Given the description of an element on the screen output the (x, y) to click on. 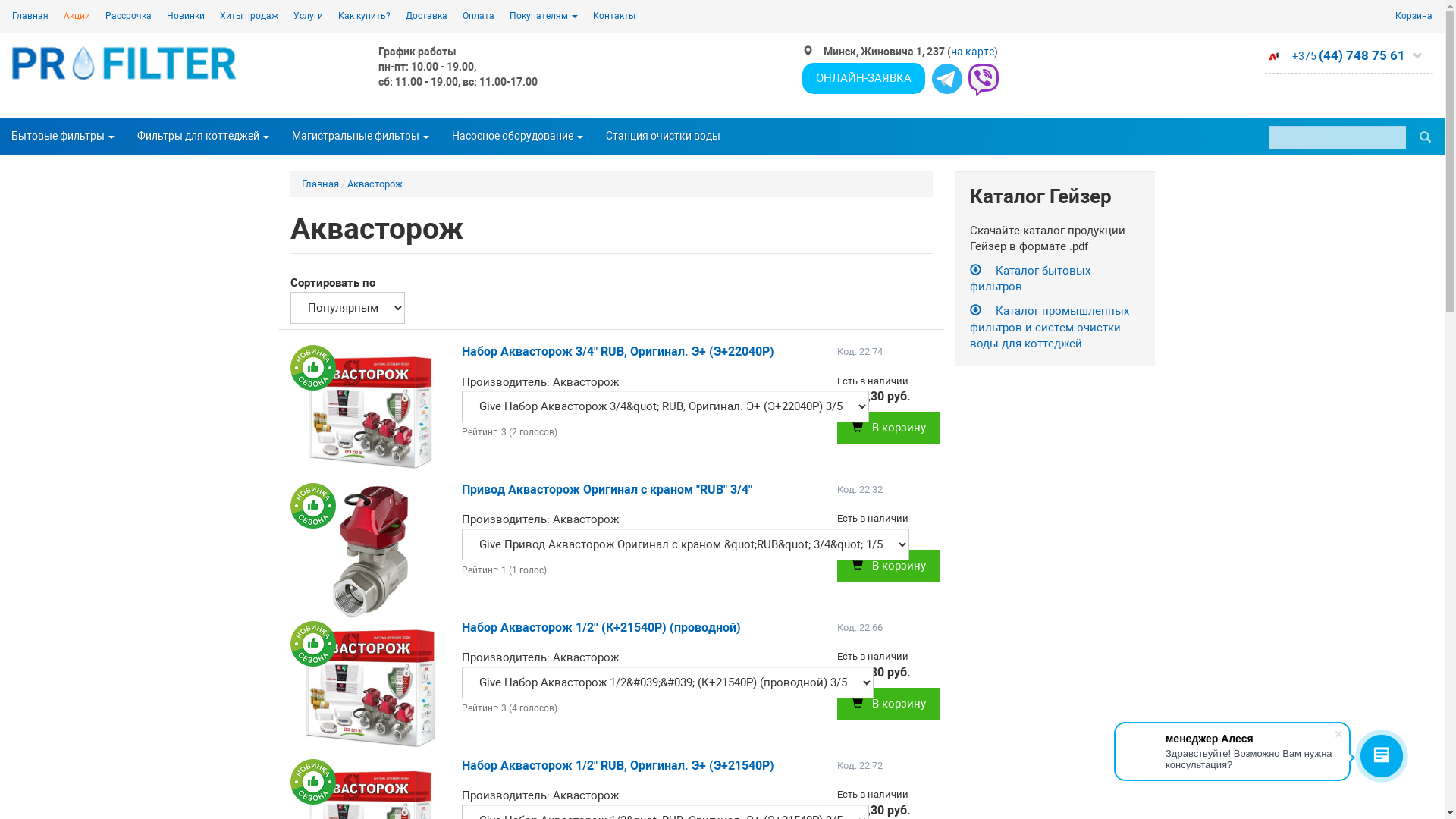
profilter.by Element type: hover (124, 62)
+375 (44) 748 75 61 Element type: text (1348, 55)
 +375 (44) 748 75 61  Element type: text (1348, 58)
  Element type: text (1424, 136)
